Given the description of an element on the screen output the (x, y) to click on. 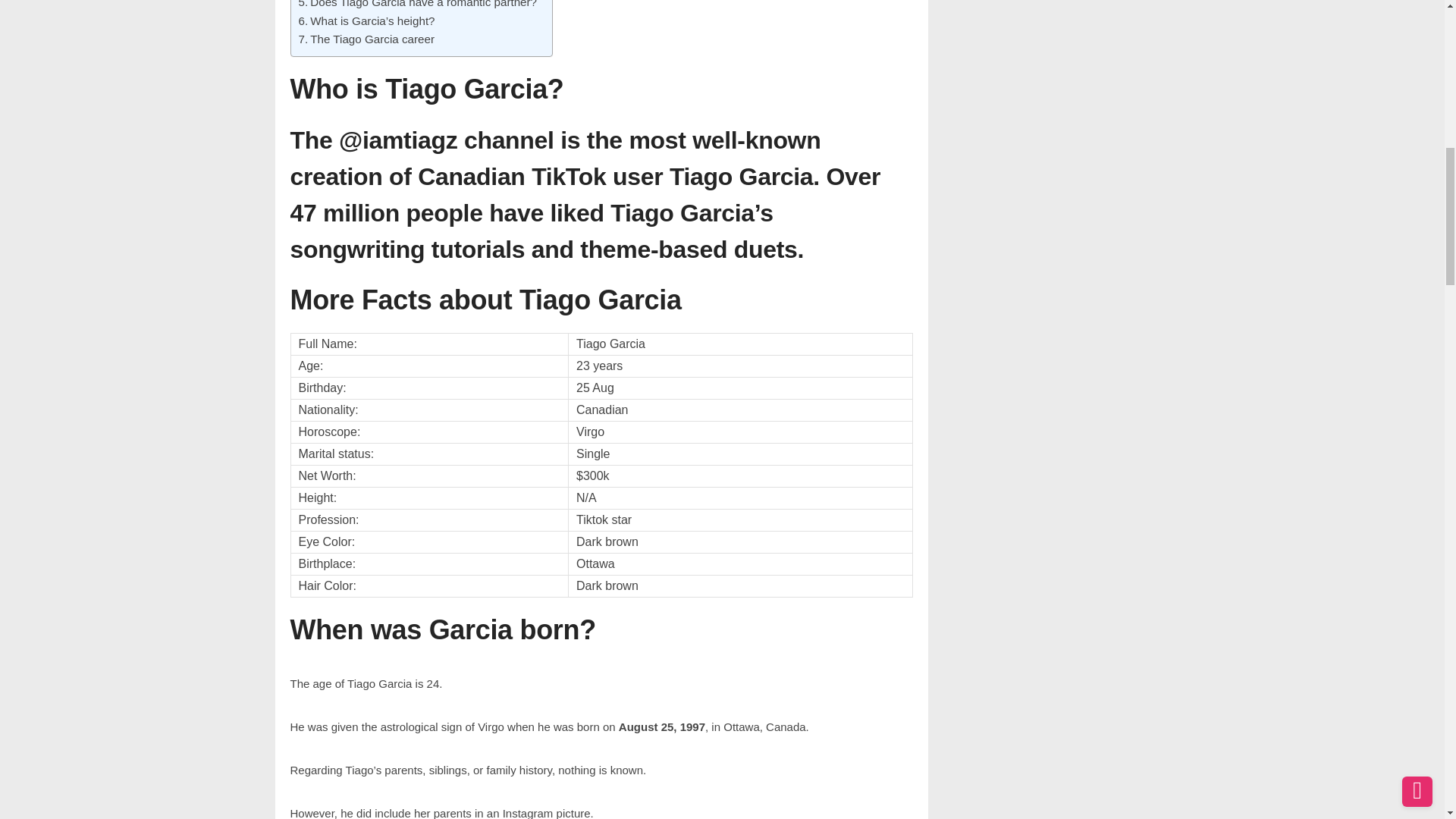
The Tiago Garcia career (365, 39)
Does Tiago Garcia have a romantic partner? (417, 5)
The Tiago Garcia career (365, 39)
Does Tiago Garcia have a romantic partner? (417, 5)
